Given the description of an element on the screen output the (x, y) to click on. 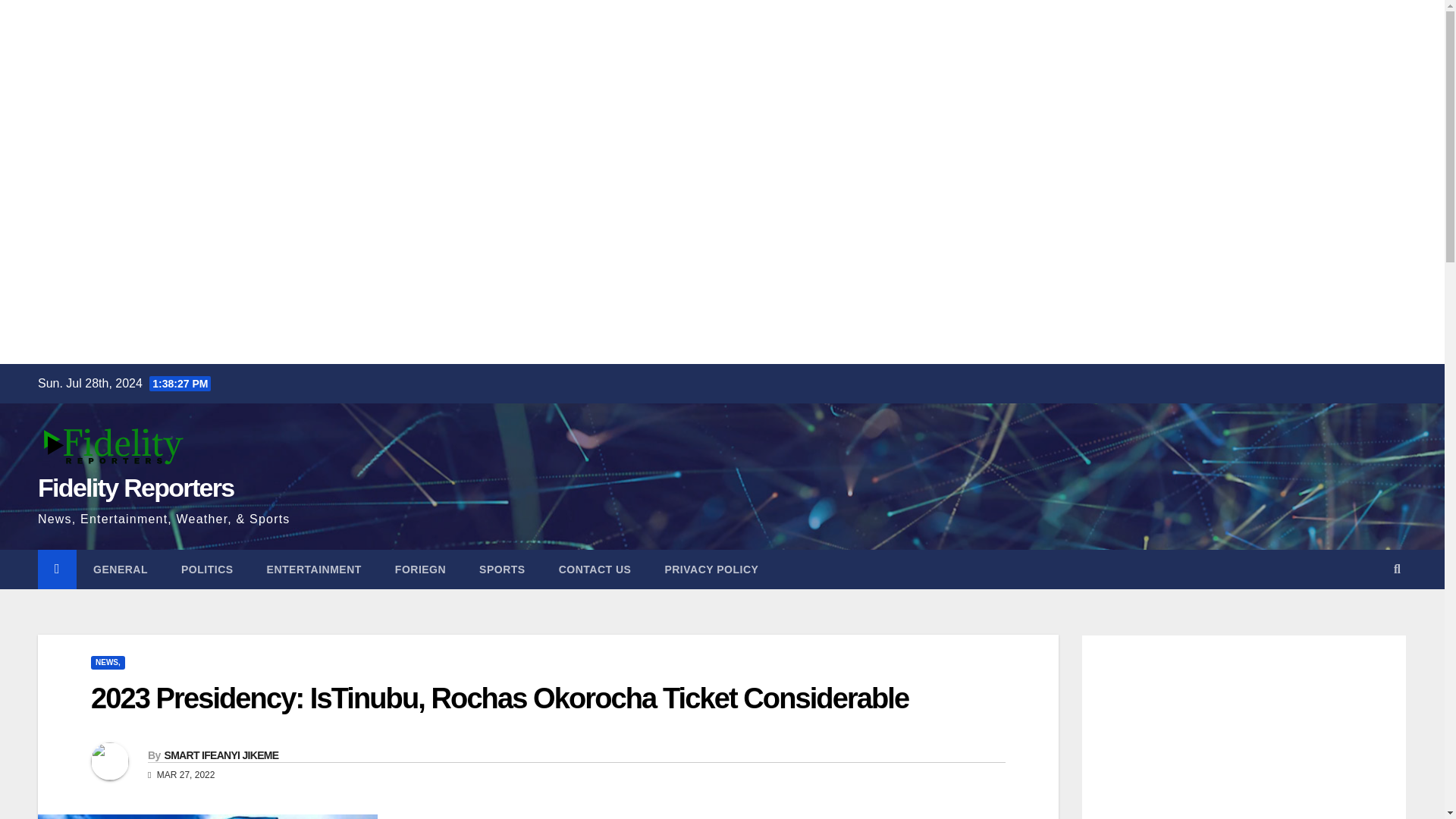
NEWS, (107, 662)
SPORTS (502, 568)
FORIEGN (420, 568)
POLITICS (207, 568)
GENERAL (120, 568)
ENTERTAINMENT (314, 568)
Politics (207, 568)
CONTACT US (594, 568)
General (120, 568)
Privacy Policy (710, 568)
SMART IFEANYI JIKEME (220, 755)
Sports (502, 568)
